Given the description of an element on the screen output the (x, y) to click on. 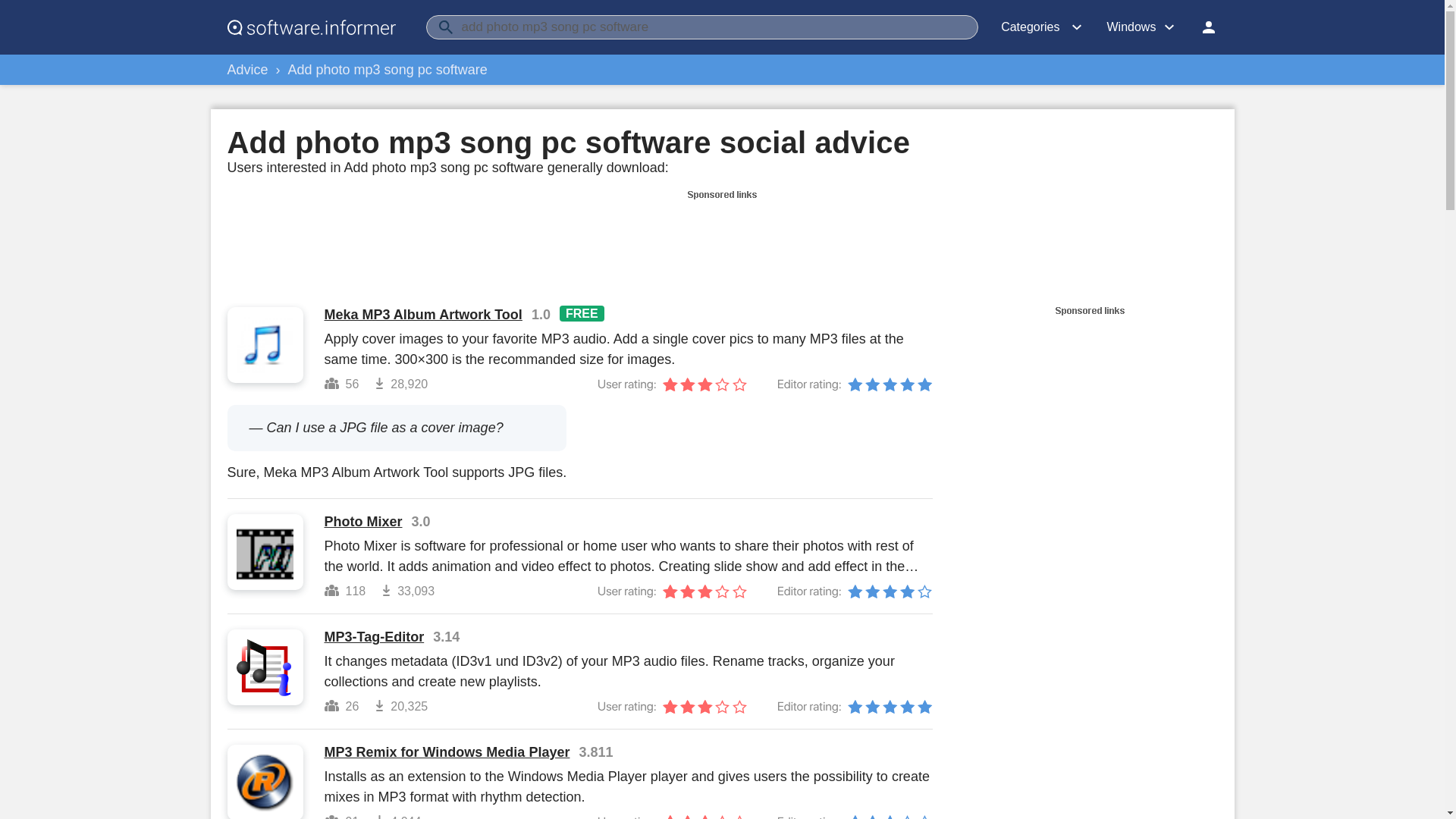
Meka MP3 Album Artwork Tool (423, 314)
MP3 Remix for Windows Media Player (447, 752)
Add photo mp3 song pc software (387, 69)
Photo Mixer (363, 521)
Advertisement (721, 238)
Meka MP3 Album Artwork Tool (423, 314)
Advice (247, 69)
MP3-Tag-Editor (374, 637)
Photo Mixer (363, 521)
Add photo mp3 song pc software (387, 69)
add photo mp3 song pc software (702, 27)
Search (445, 27)
Advice (247, 69)
MP3 Remix for Windows Media Player (447, 752)
